Given the description of an element on the screen output the (x, y) to click on. 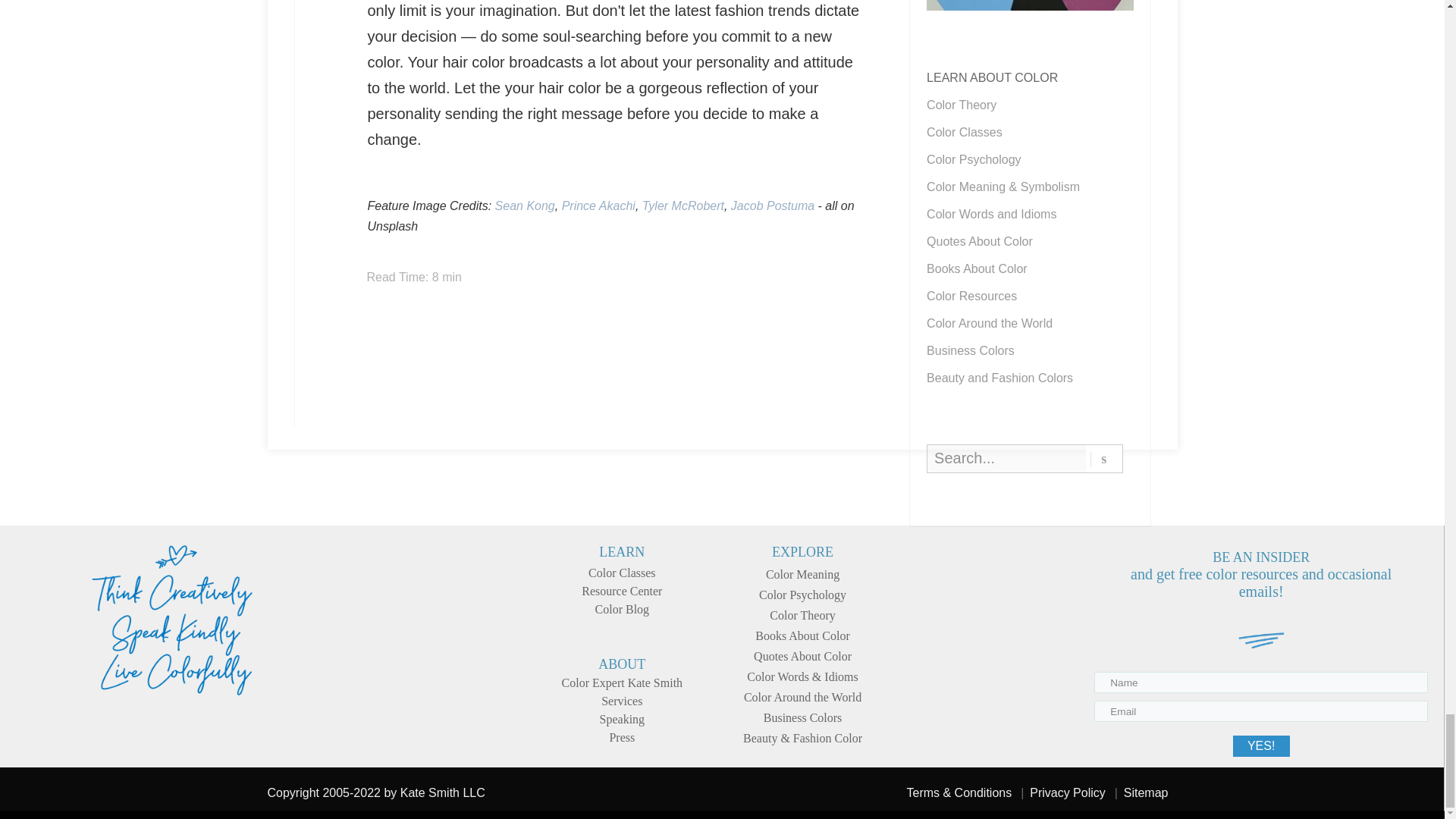
Jacob Postuma (771, 205)
Live Colorfully (171, 619)
Prince Akachi (598, 205)
Tyler McRobert (682, 205)
Sean Kong (524, 205)
Doodle Icon 2 (1261, 641)
